Given the description of an element on the screen output the (x, y) to click on. 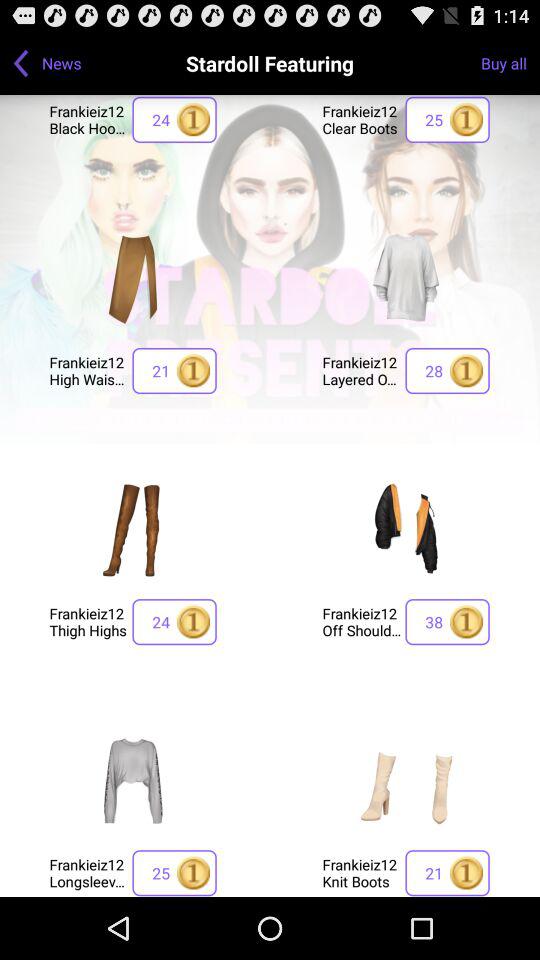
click on favorites (406, 529)
